Given the description of an element on the screen output the (x, y) to click on. 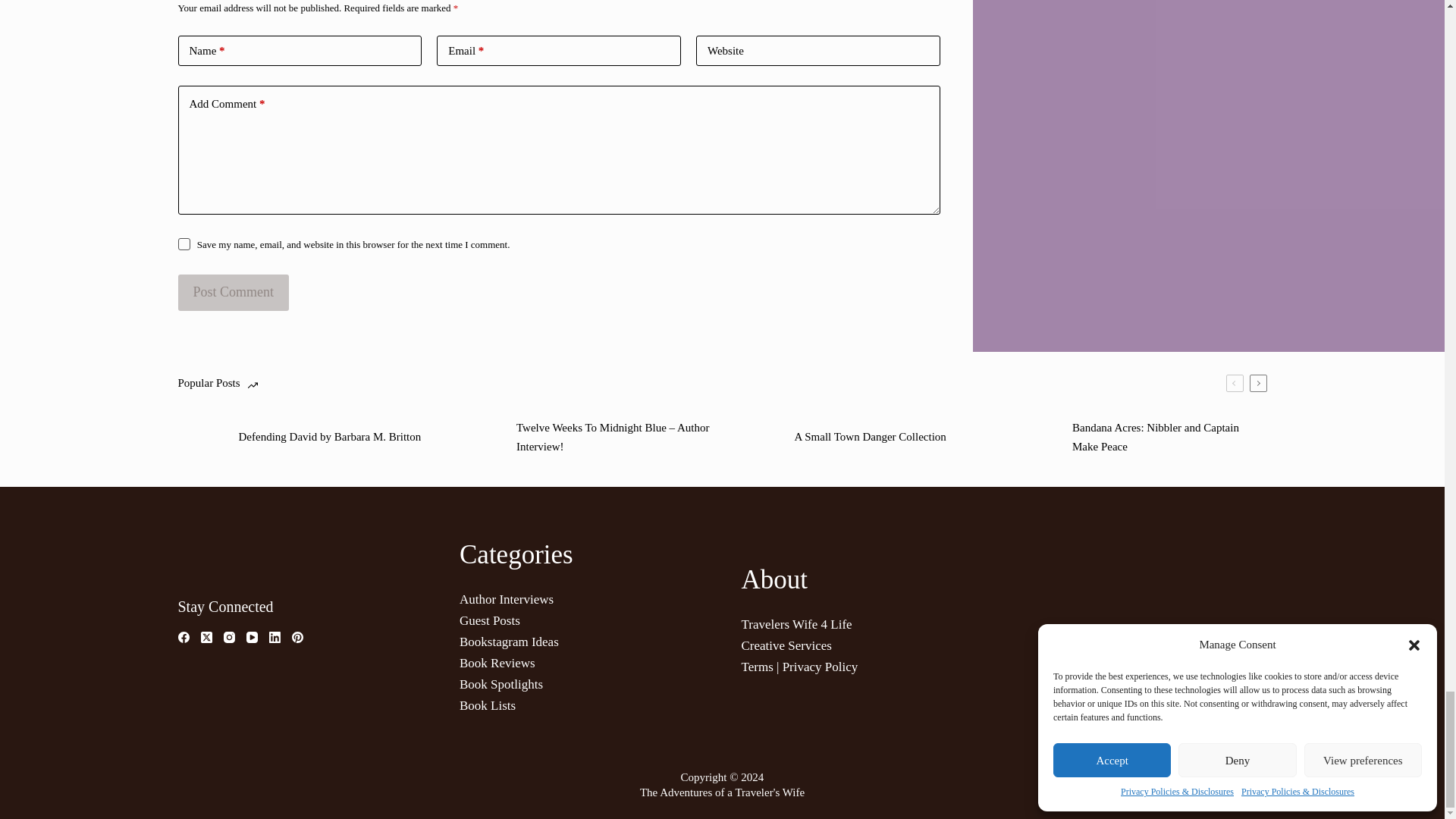
yes (183, 244)
